Given the description of an element on the screen output the (x, y) to click on. 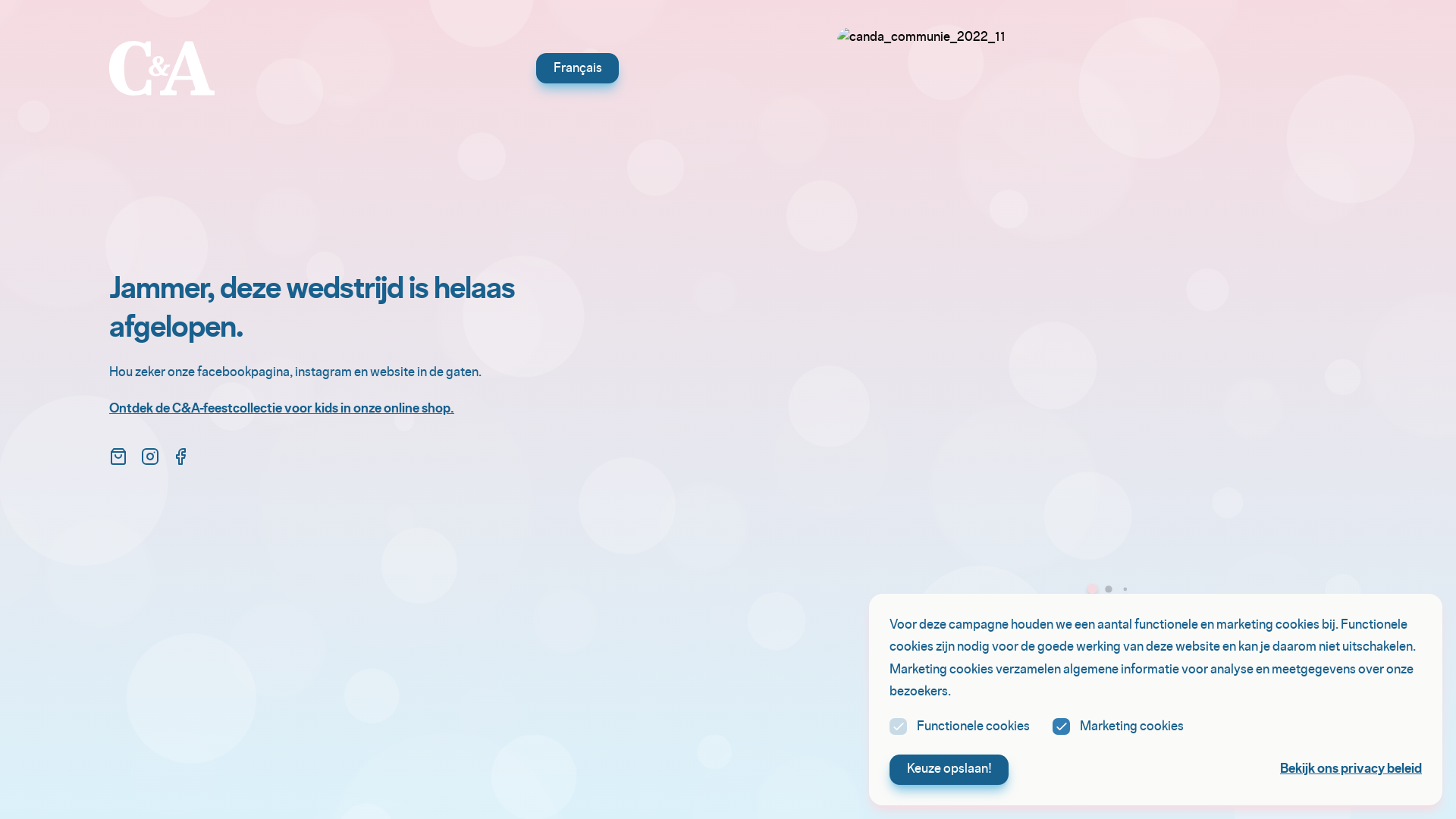
Bekijk ons privacy beleid Element type: text (1350, 769)
Instagram Element type: hover (150, 456)
Shop Element type: hover (118, 456)
Ontdek de C&A-feestcollectie voor kids in onze online shop. Element type: text (281, 408)
Facebook Element type: hover (180, 456)
C&A logo Element type: hover (161, 68)
